Given the description of an element on the screen output the (x, y) to click on. 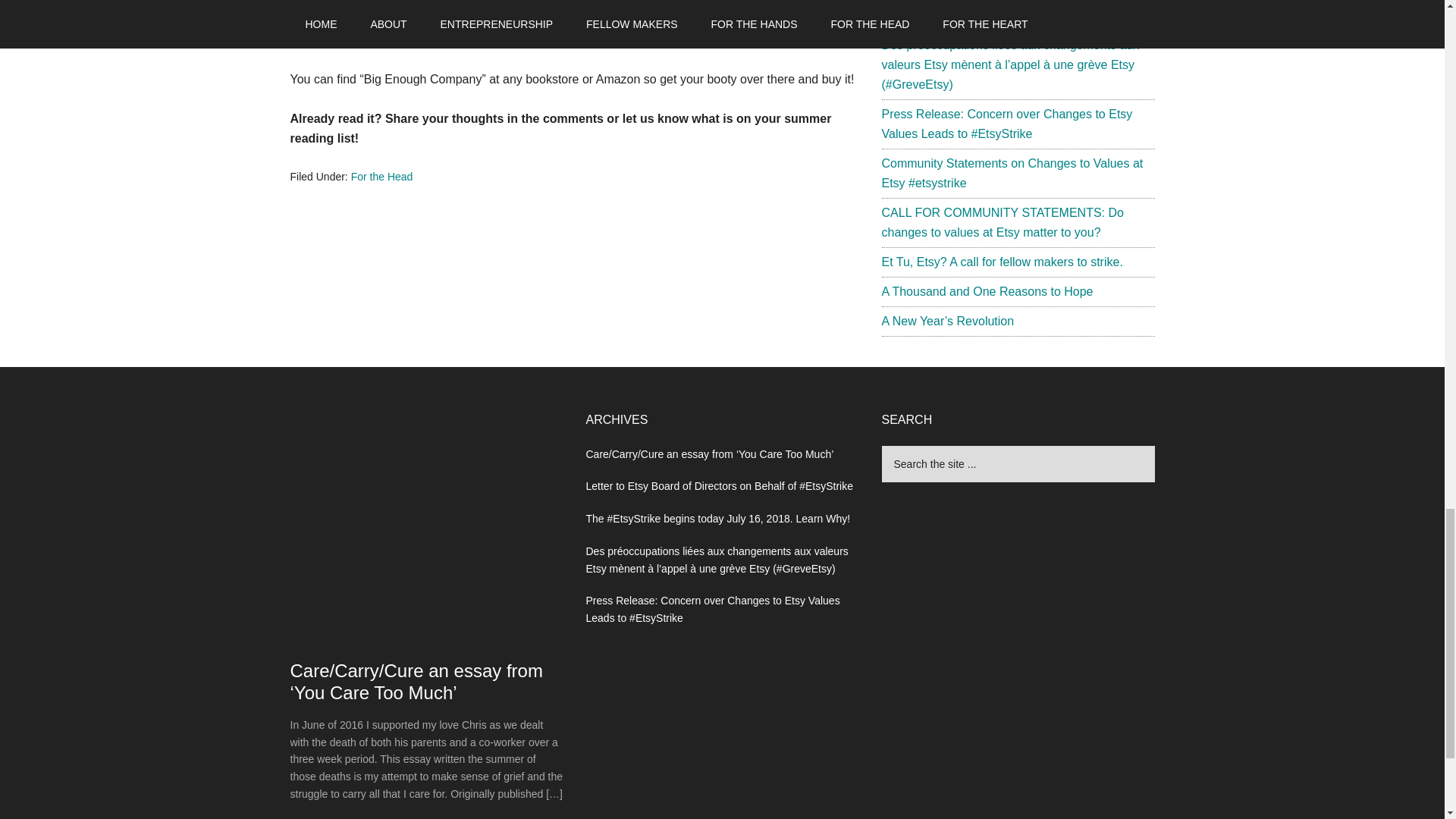
For the Head (381, 176)
